Given the description of an element on the screen output the (x, y) to click on. 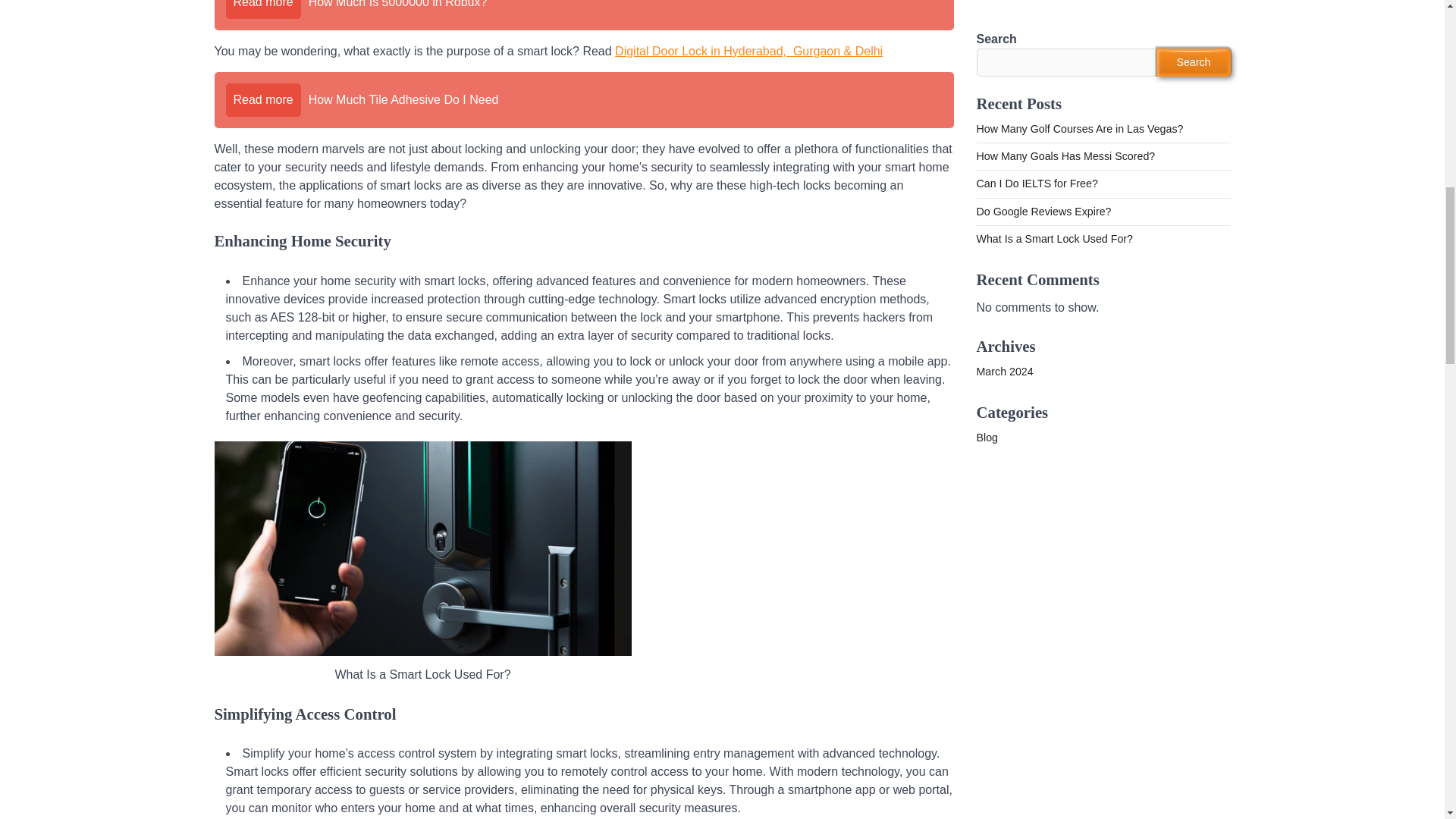
Read moreHow Much Tile Adhesive Do I Need (583, 99)
Read moreHow Much Is 5000000 in Robux? (583, 15)
